Given the description of an element on the screen output the (x, y) to click on. 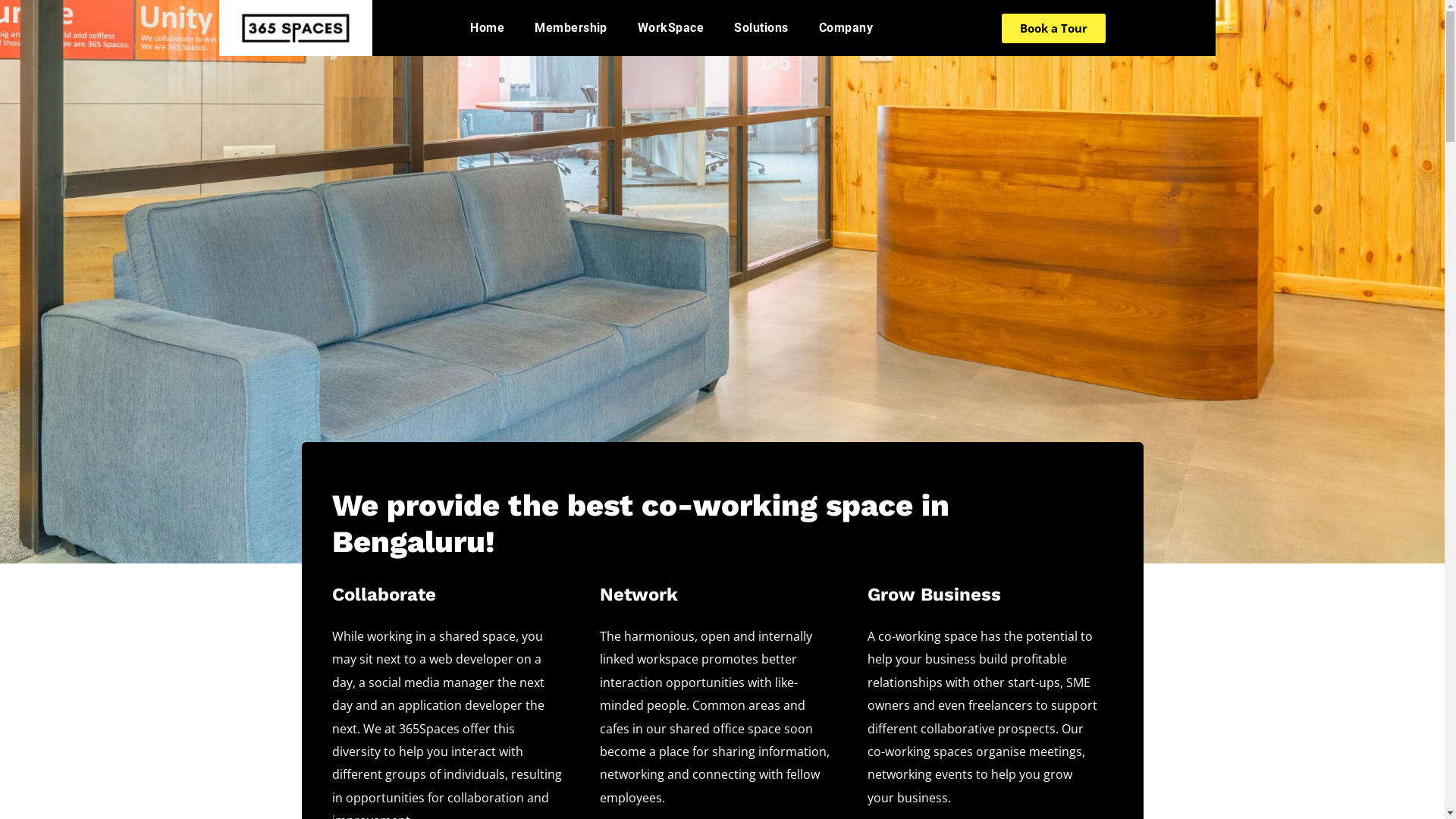
WorkSpace Element type: text (670, 28)
Solutions Element type: text (760, 28)
365 Shared Spaces Element type: hover (295, 27)
Book a Tour Element type: text (1053, 28)
Home Element type: text (487, 28)
Company Element type: text (845, 28)
Membership Element type: text (570, 28)
365 Shared Spaces Element type: hover (295, 26)
